Given the description of an element on the screen output the (x, y) to click on. 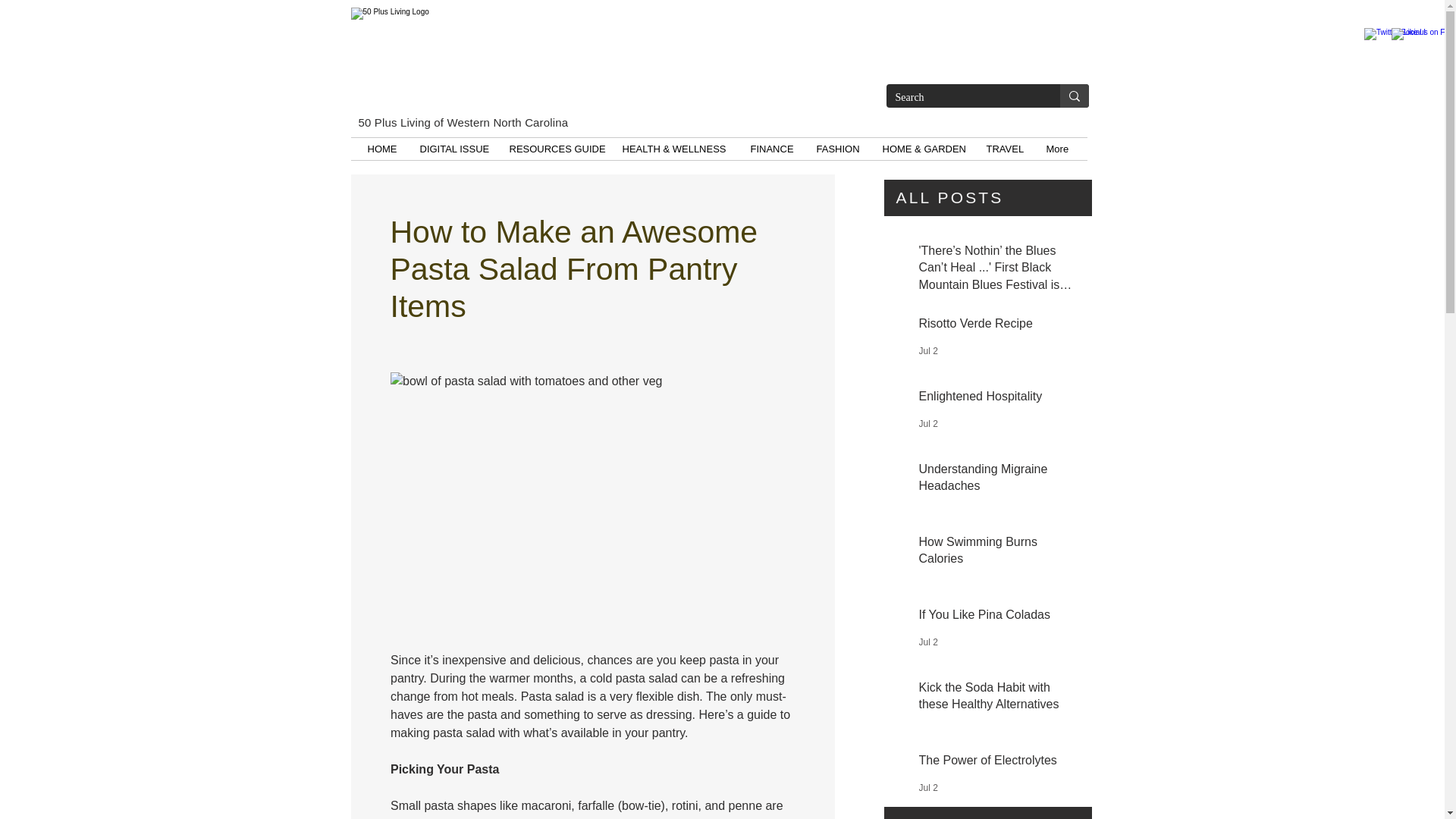
50PlusWNC (552, 58)
HOME (382, 148)
RESOURCES GUIDE (553, 148)
The Power of Electrolytes (994, 763)
FASHION (837, 148)
Jul 2 (927, 787)
Kick the Soda Habit with these Healthy Alternatives (994, 699)
TRAVEL (1005, 148)
Jul 2 (927, 642)
Jul 2 (927, 423)
FINANCE (771, 148)
Jul 2 (927, 350)
DIGITAL ISSUE (452, 148)
Jul 2 (927, 586)
Jul 2 (927, 513)
